Given the description of an element on the screen output the (x, y) to click on. 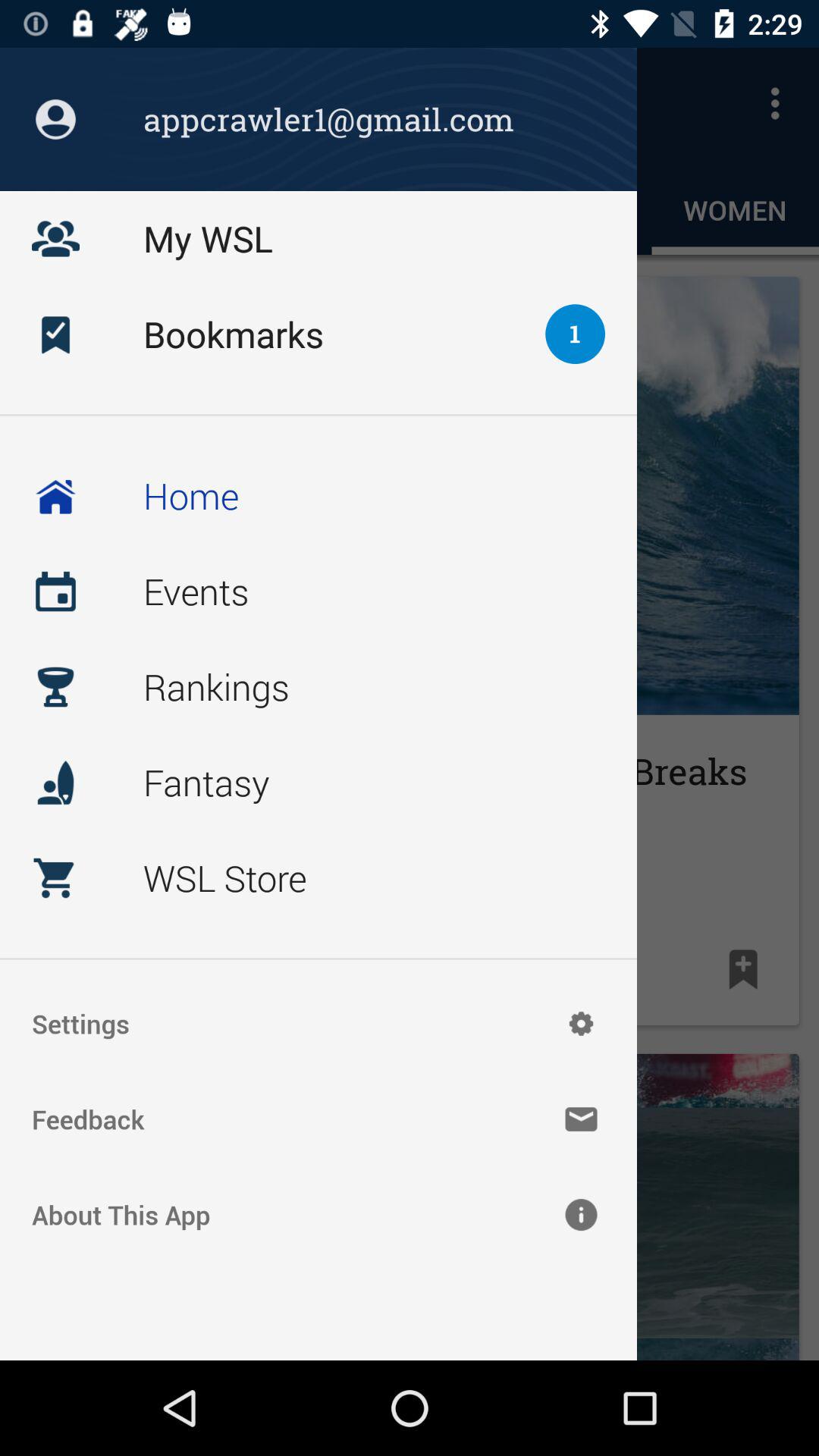
select the text above the bookmarks (352, 206)
select the icon which is beside the rankings (55, 687)
select the profile icon which is on the top left corner (55, 119)
